Given the description of an element on the screen output the (x, y) to click on. 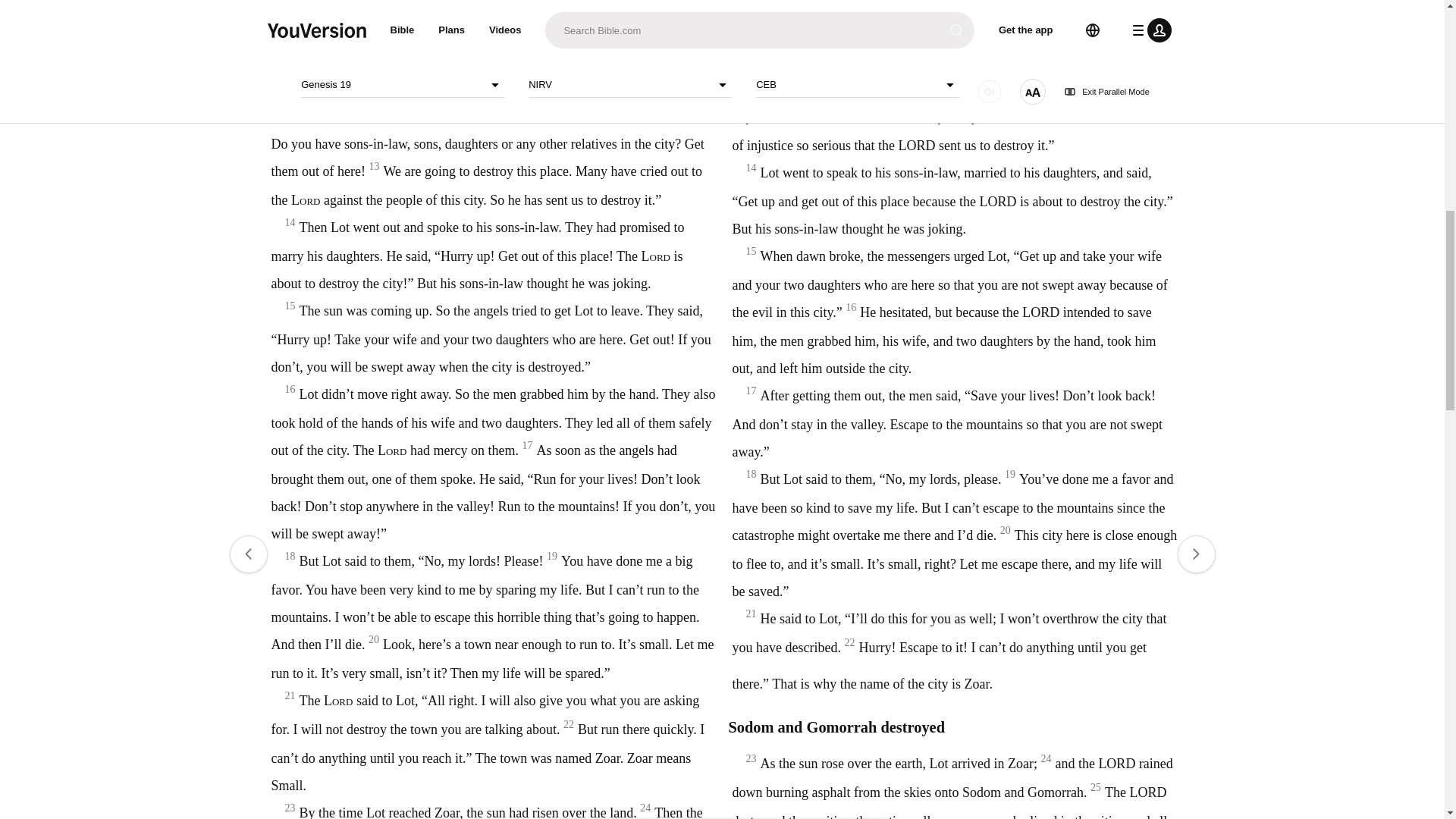
Genesis 19: NIrV (619, 47)
: (599, 47)
Sign up or sign in (773, 245)
